Given the description of an element on the screen output the (x, y) to click on. 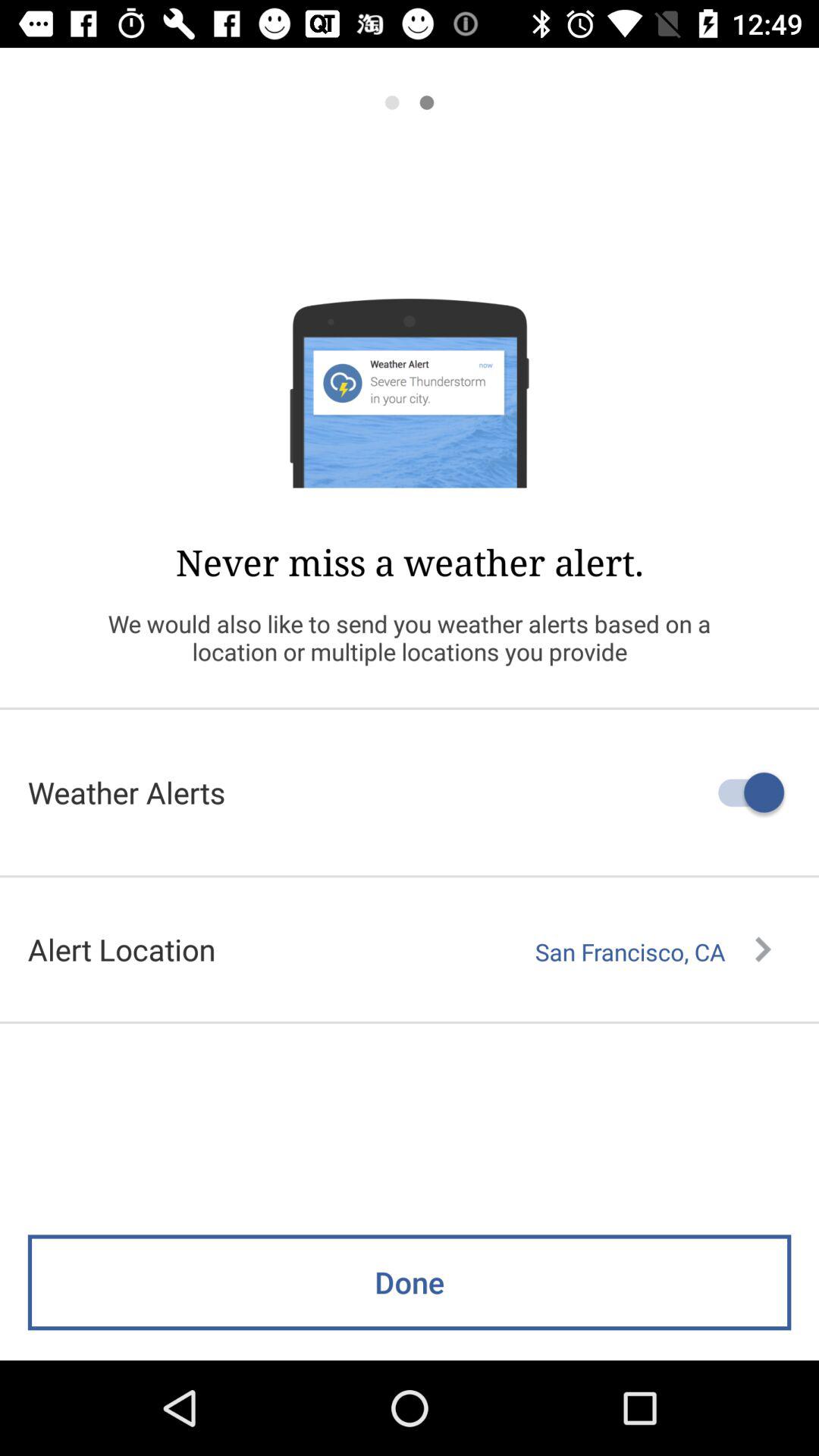
choose item next to alert location item (653, 951)
